Given the description of an element on the screen output the (x, y) to click on. 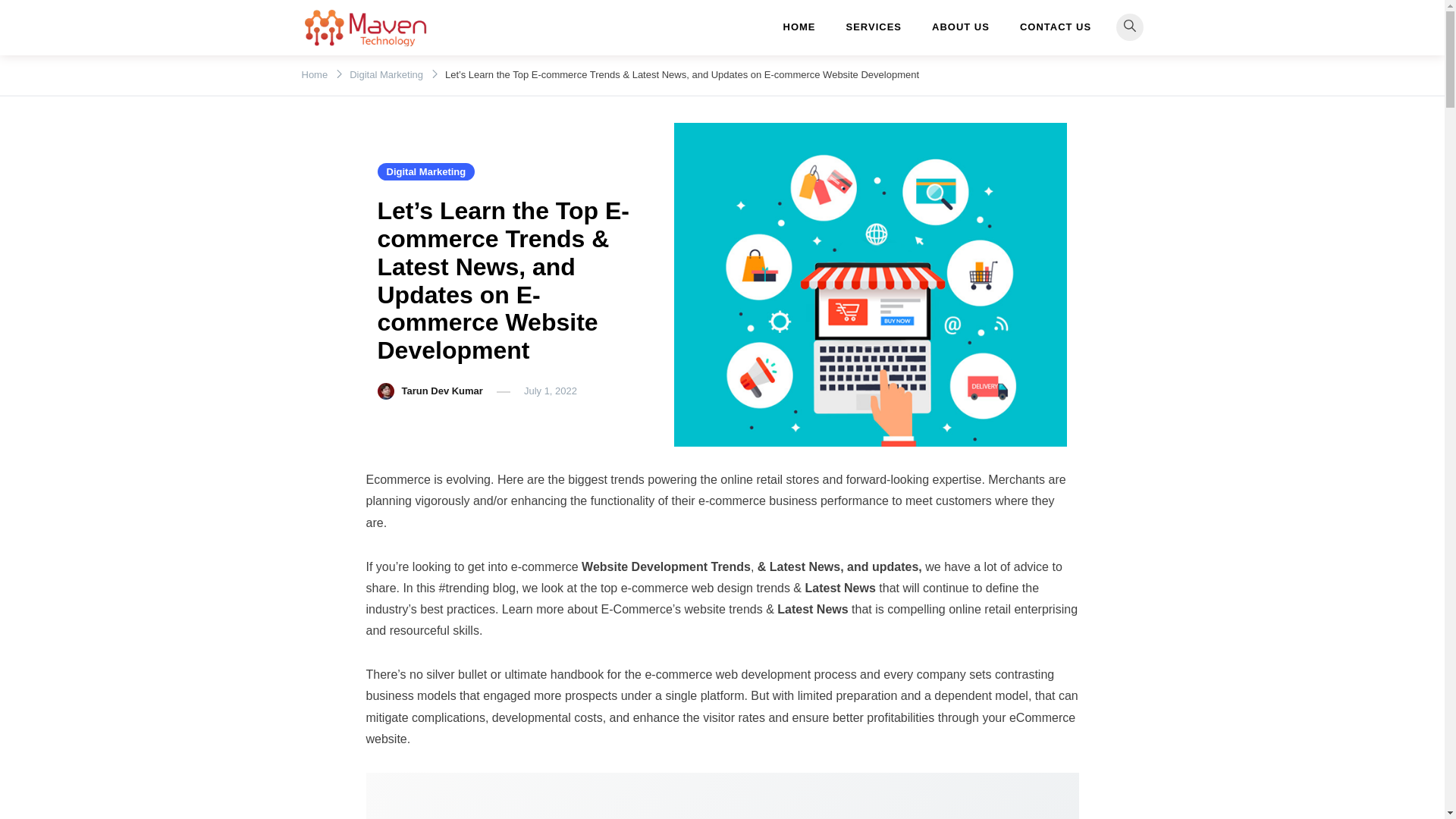
CONTACT US (1055, 27)
Tarun Dev Kumar (442, 390)
ABOUT US (960, 27)
Digital Marketing (426, 171)
Home (315, 74)
July 1, 2022 (550, 390)
SERVICES (874, 27)
Digital Marketing (386, 74)
HOME (806, 27)
